Given the description of an element on the screen output the (x, y) to click on. 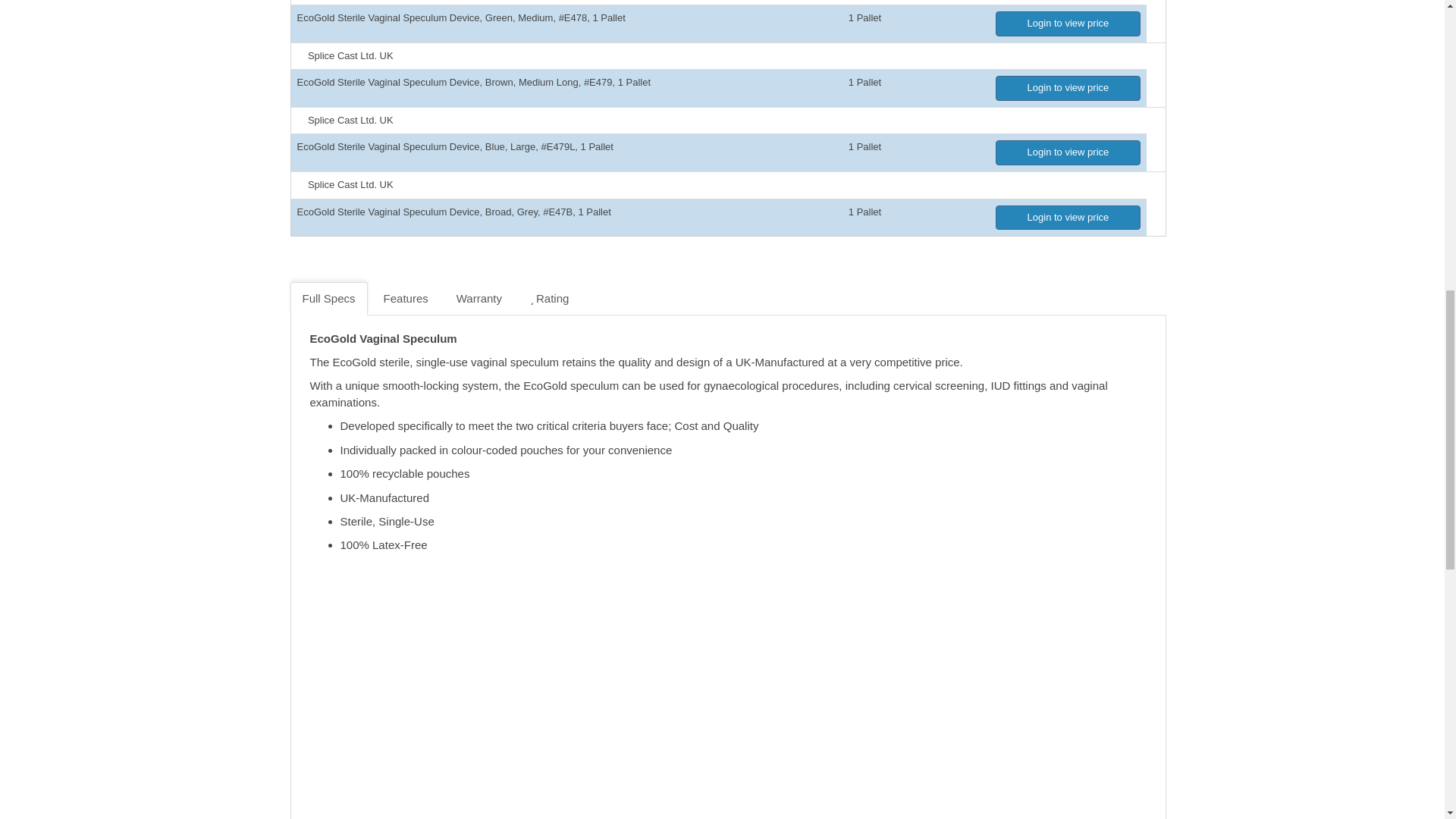
YouTube video player (577, 714)
